Given the description of an element on the screen output the (x, y) to click on. 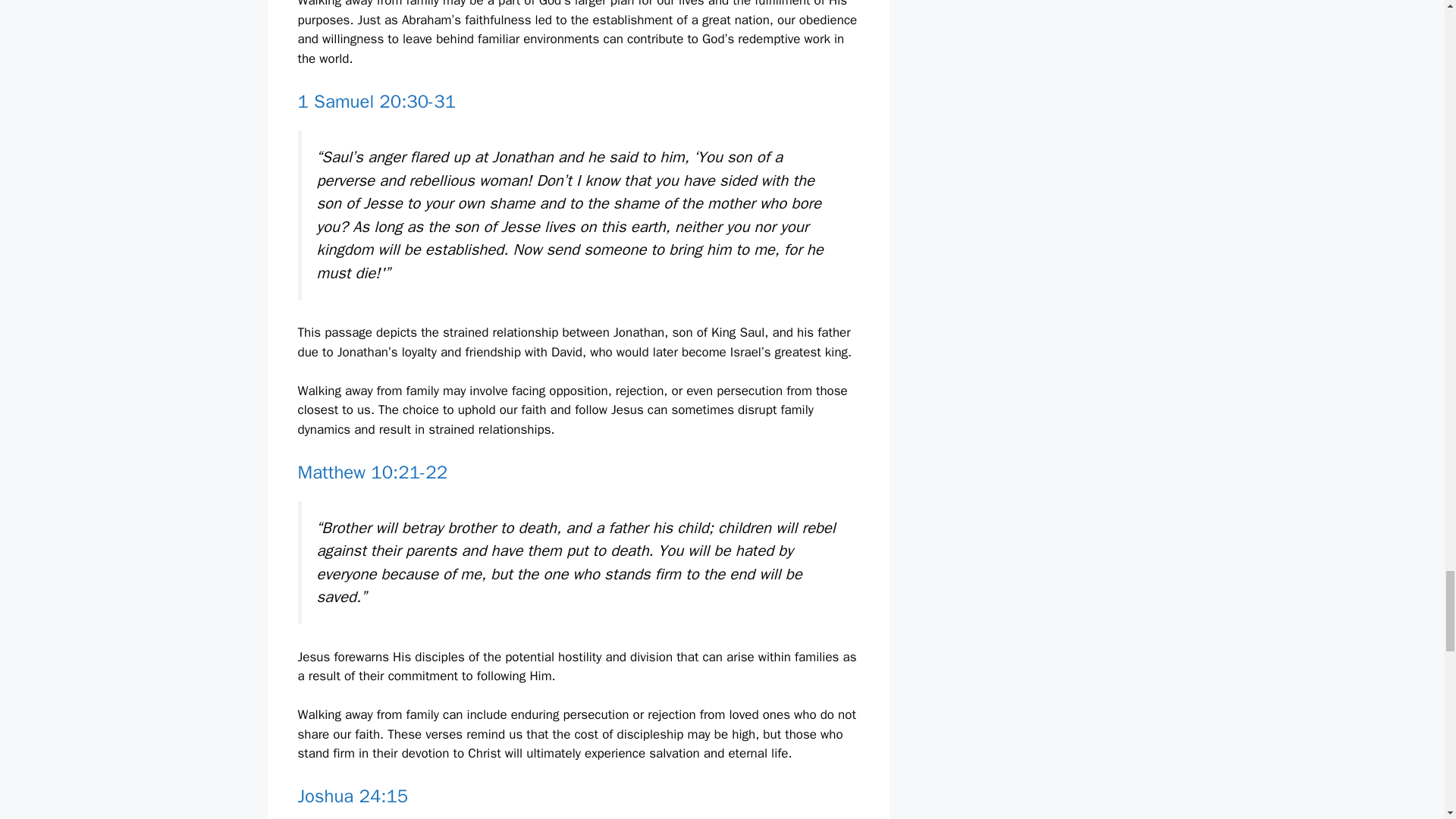
Joshua 24:15 (352, 795)
Matthew 10:21-22 (371, 472)
1 Samuel 20:30-31 (376, 101)
